Given the description of an element on the screen output the (x, y) to click on. 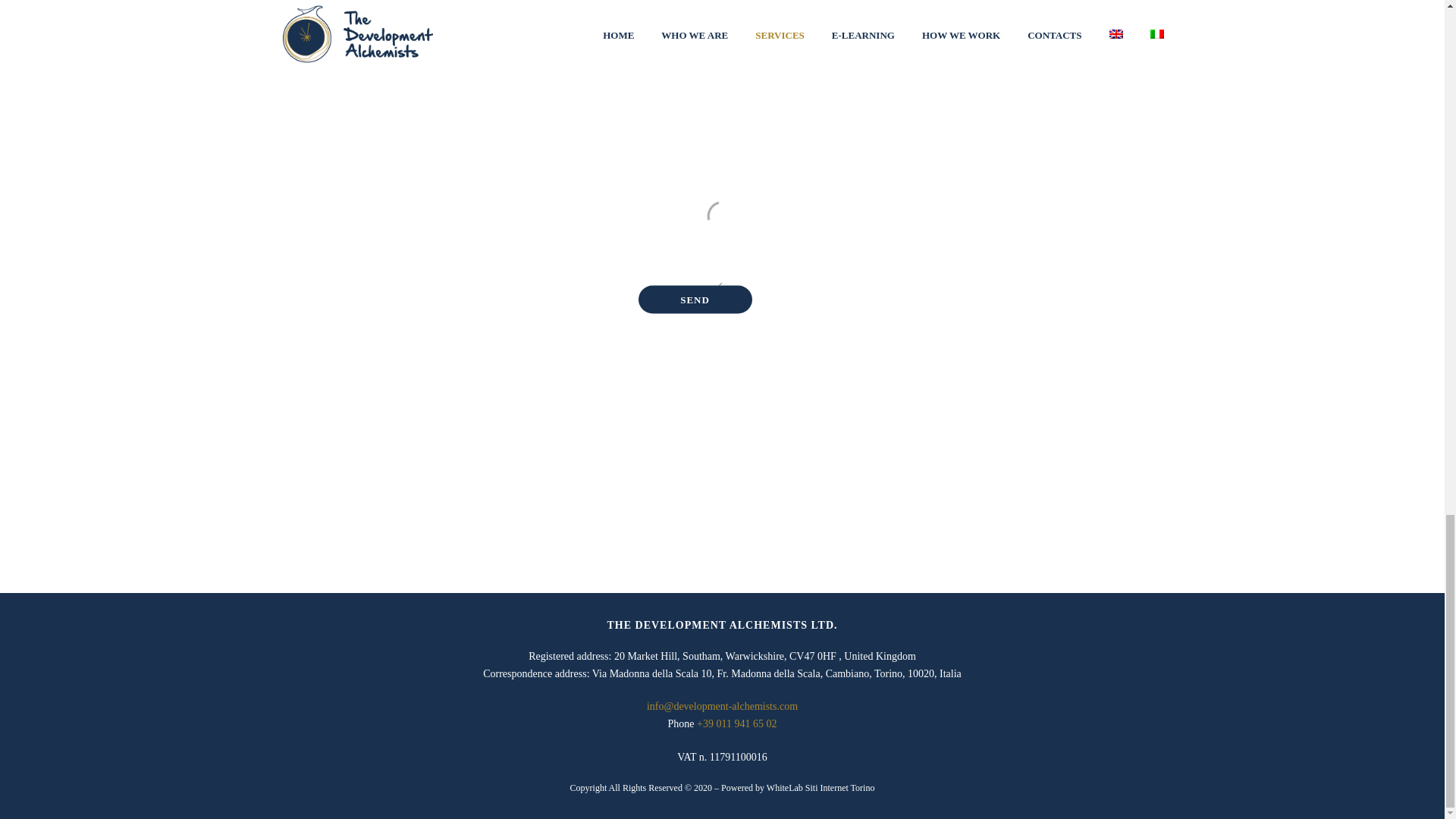
Realizzazione Siti Internet Torino (840, 787)
WhiteLab Web Agency Torino (785, 787)
SEND (695, 299)
WhiteLab (785, 787)
Terms of service (724, 364)
Privacy Policy (649, 364)
Siti Internet Torino (840, 787)
SEND (695, 299)
